Given the description of an element on the screen output the (x, y) to click on. 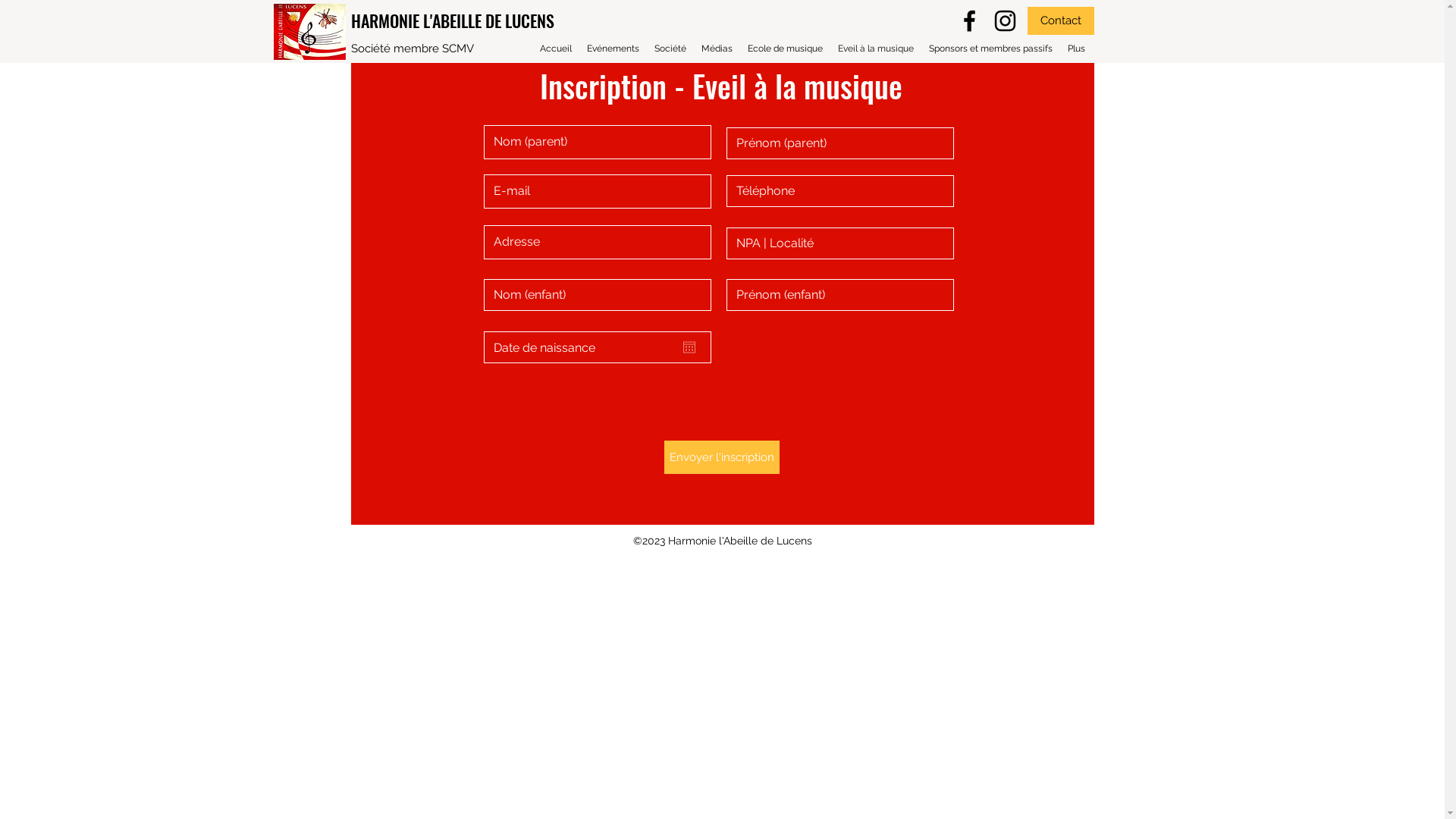
Accueil Element type: text (555, 48)
HARMONIE L'ABEILLE DE LUCENS Element type: text (451, 20)
Envoyer l'inscription Element type: text (721, 456)
Sponsors et membres passifs Element type: text (990, 48)
Contact Element type: text (1059, 20)
Ecole de musique Element type: text (785, 48)
